Given the description of an element on the screen output the (x, y) to click on. 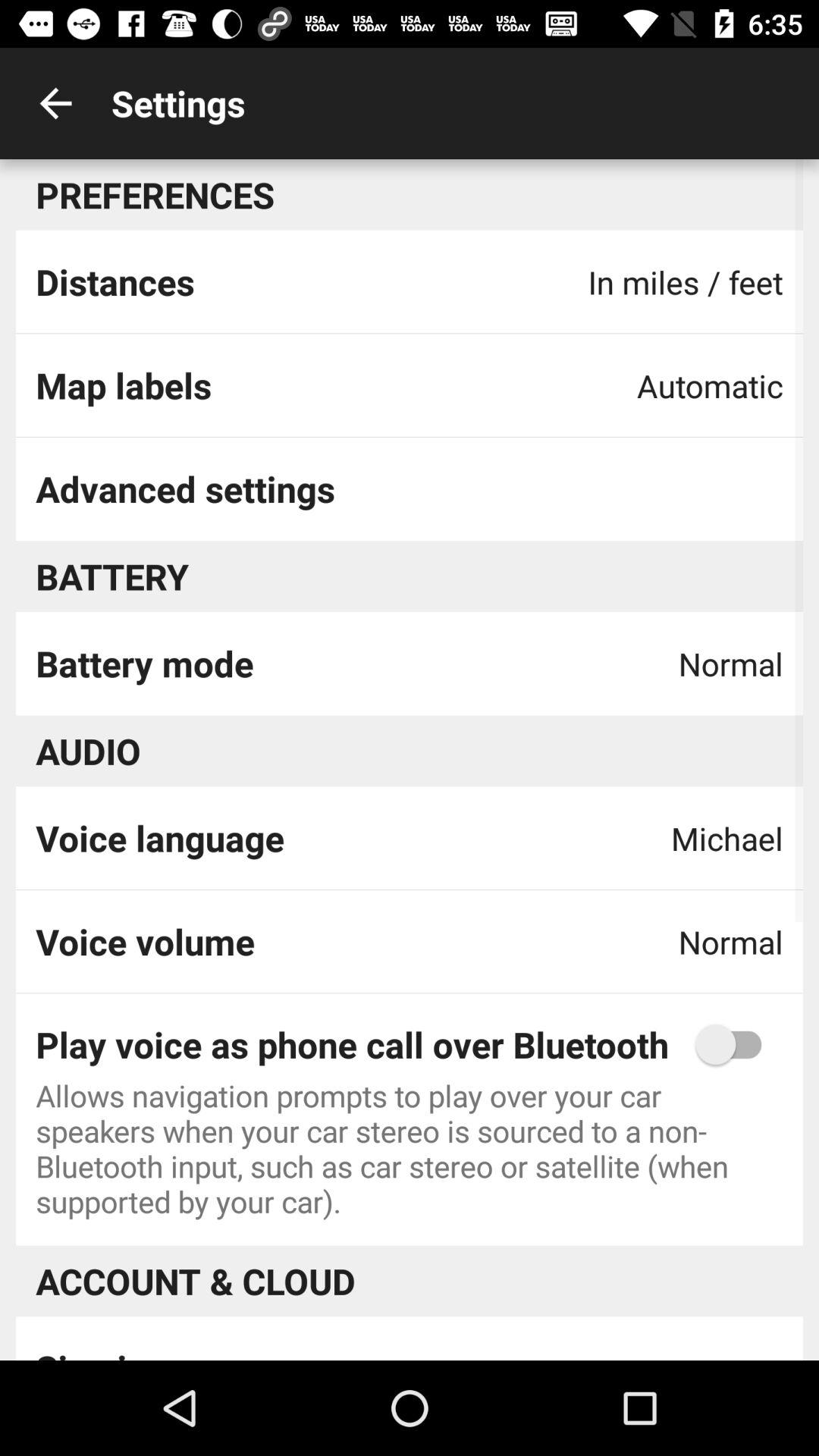
tap the item below the audio item (159, 837)
